Given the description of an element on the screen output the (x, y) to click on. 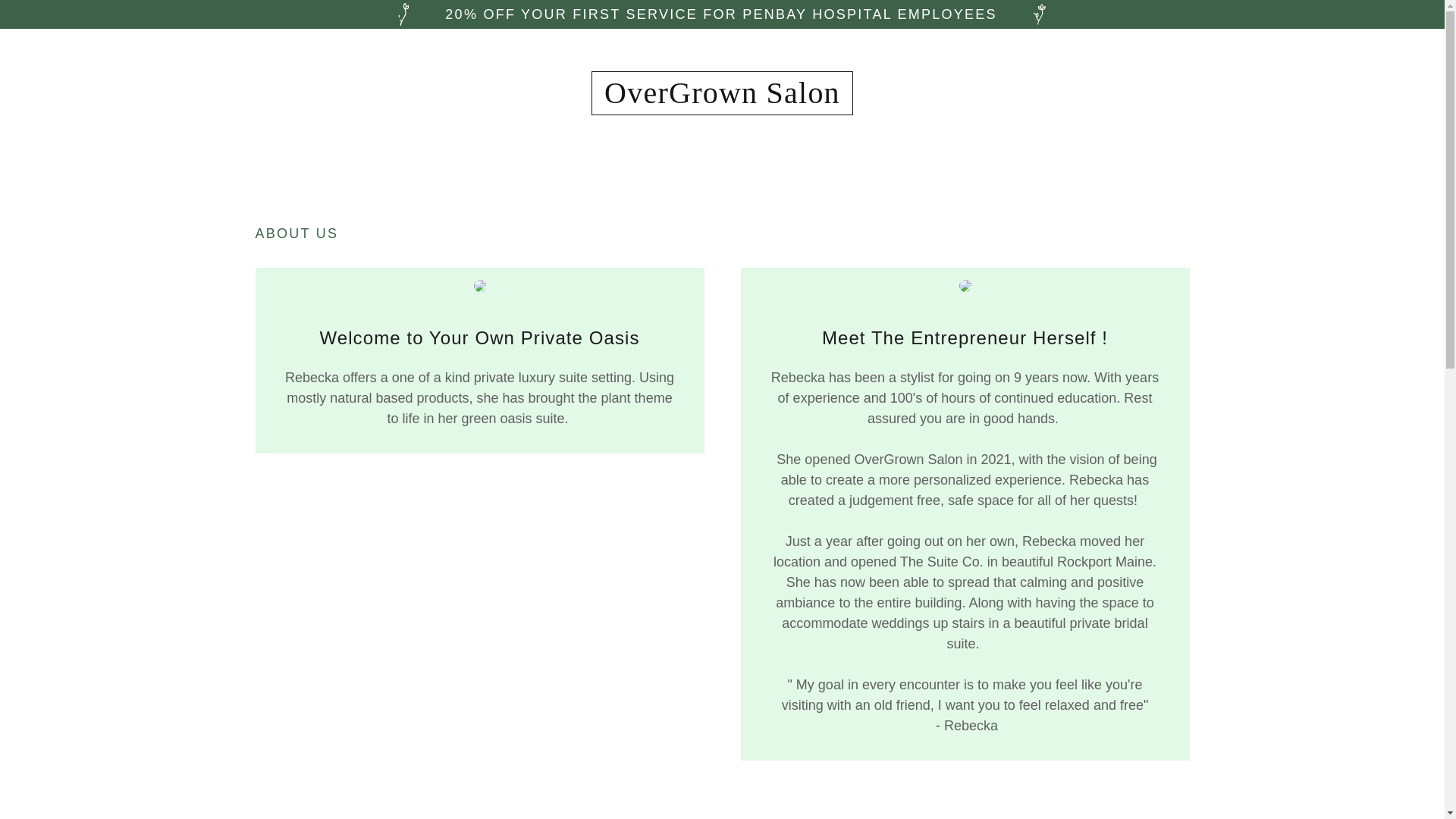
OverGrown Salon (722, 98)
OverGrown Salon (722, 98)
